Given the description of an element on the screen output the (x, y) to click on. 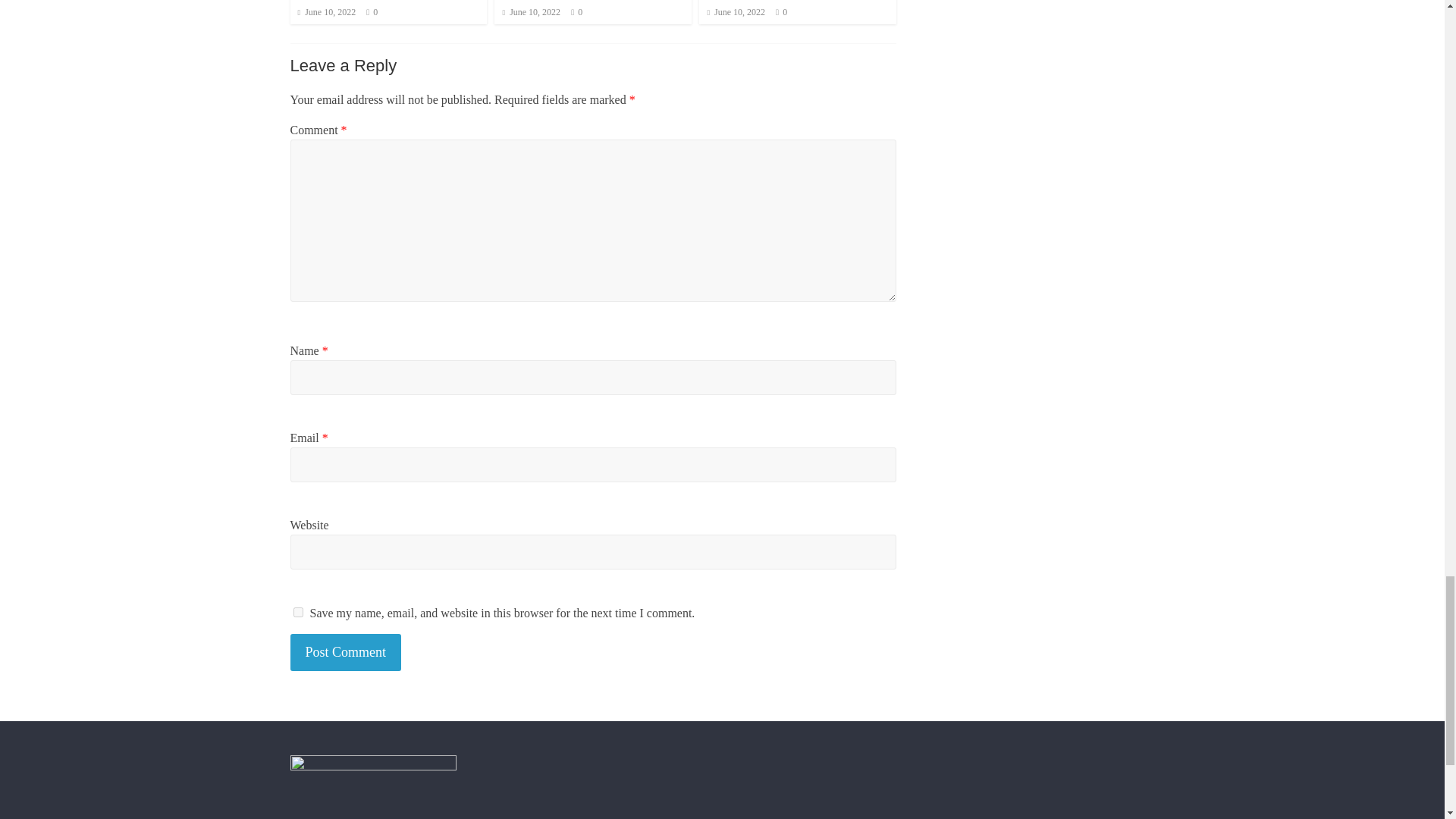
Post Comment (345, 651)
7:40 am (326, 11)
yes (297, 612)
June 10, 2022 (326, 11)
